Given the description of an element on the screen output the (x, y) to click on. 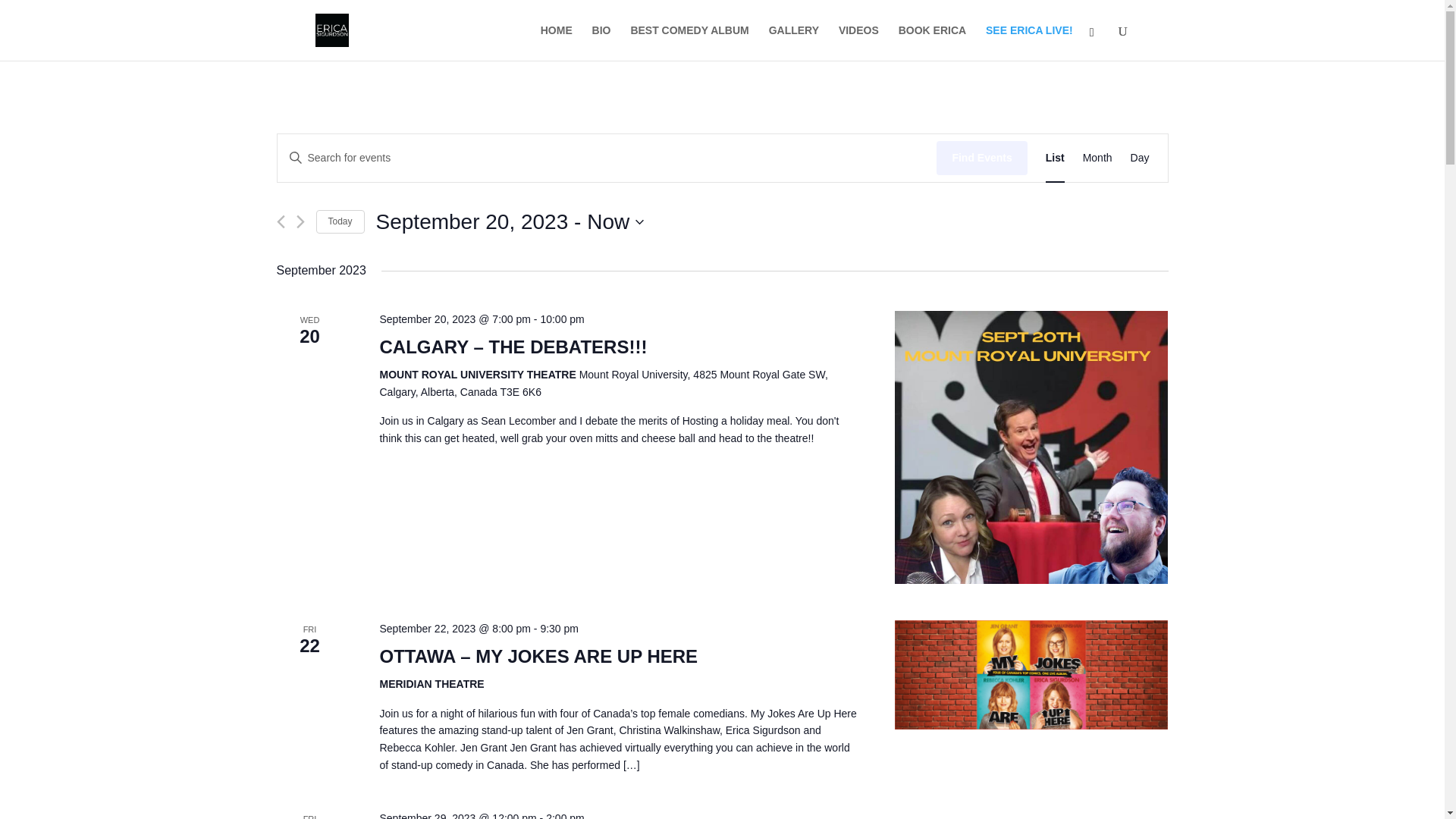
BEST COMEDY ALBUM (689, 42)
VIDEOS (858, 42)
Today (339, 221)
Click to select today's date (339, 221)
SEE ERICA LIVE! (1029, 42)
GALLERY (793, 42)
BOOK ERICA (510, 222)
Find Events (932, 42)
Click to toggle datepicker (981, 157)
